Given the description of an element on the screen output the (x, y) to click on. 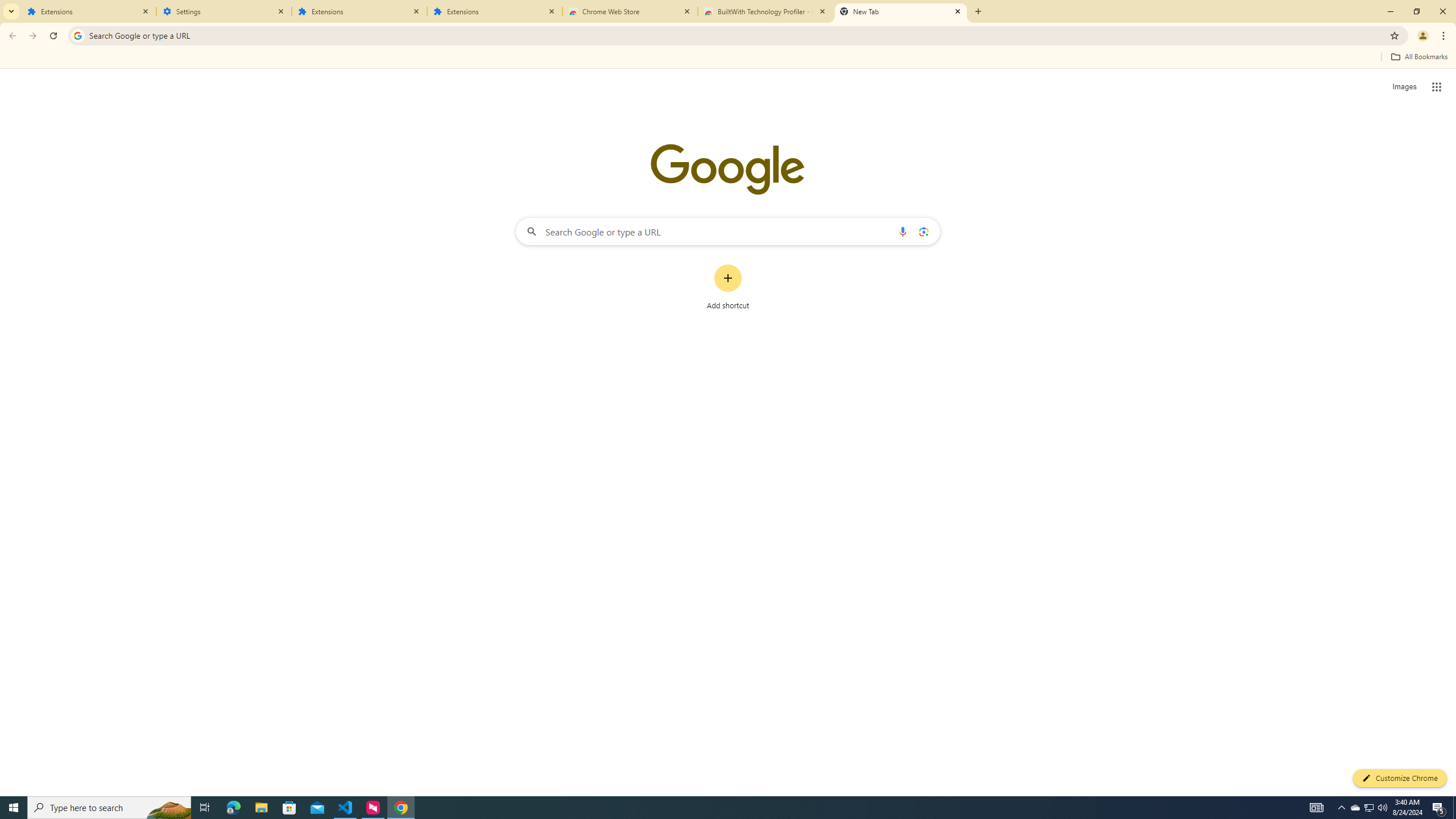
Restore (1416, 11)
Extensions (88, 11)
Chrome Web Store (630, 11)
Add shortcut (727, 287)
Search by voice (902, 230)
Bookmark this tab (1393, 35)
Search by image (922, 230)
BuiltWith Technology Profiler - Chrome Web Store (765, 11)
Chrome (1445, 35)
New Tab (901, 11)
Extensions (359, 11)
Close (957, 11)
